Given the description of an element on the screen output the (x, y) to click on. 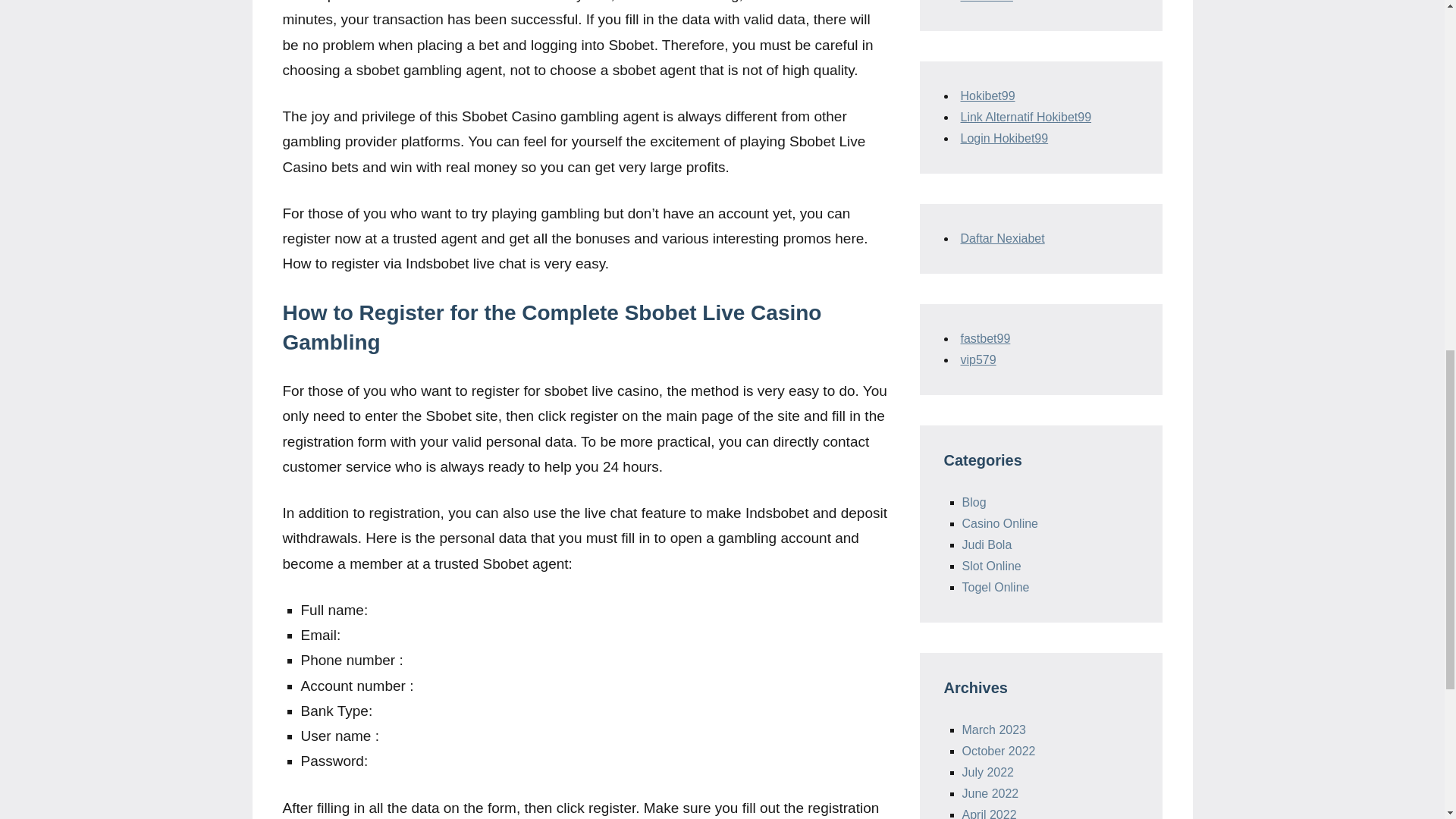
Hokibet99 (986, 95)
Link Alternatif Hokibet99 (1024, 116)
Login Hokibet99 (1003, 137)
vip579 (977, 359)
Daftar Nexiabet (1001, 237)
Starbet99 (985, 1)
fastbet99 (984, 338)
